Given the description of an element on the screen output the (x, y) to click on. 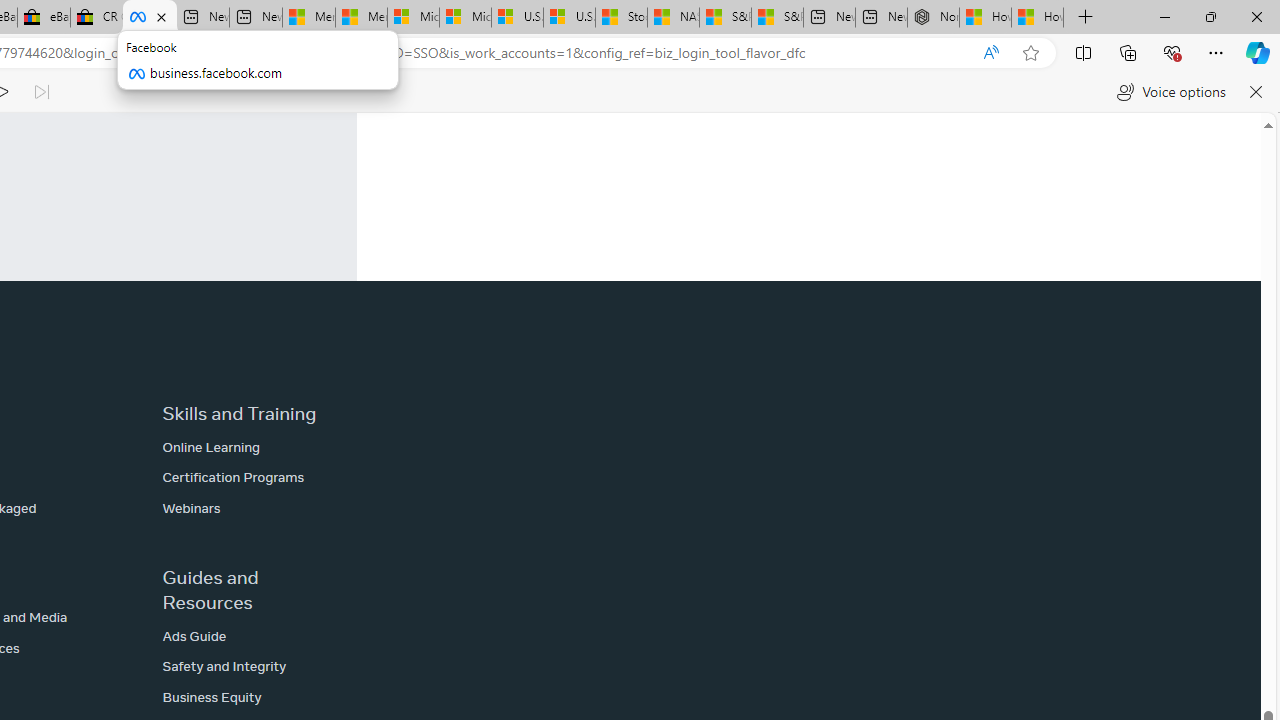
eBay Inc. Reports Third Quarter 2023 Results (43, 17)
